Given the description of an element on the screen output the (x, y) to click on. 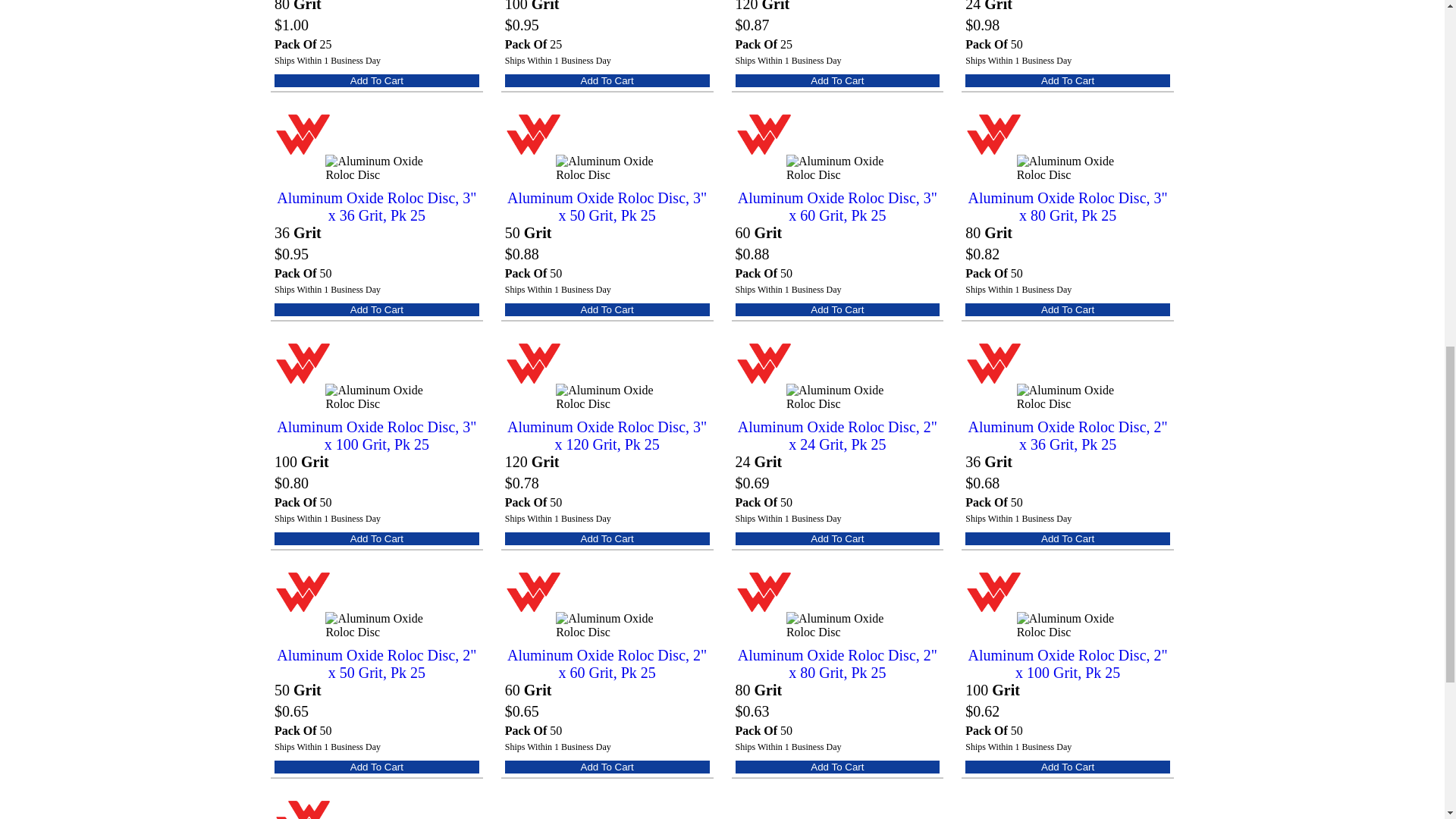
Aluminum Oxide Roloc Disc, 2" x 60 Grit, Pk 25 (607, 664)
Add To Cart (607, 80)
Aluminum Oxide Roloc Disc, 2" x 50 Grit, Pk 25 (377, 664)
Aluminum Oxide Roloc Disc, 3" x 50 Grit, Pk 25 (607, 206)
Add To Cart (1067, 80)
Aluminum Oxide Roloc Disc, 3" x 80 Grit, Pk 25 (1067, 206)
Add To Cart (377, 309)
Aluminum Oxide Roloc Disc, 3" x 36 Grit, Pk 25 (377, 206)
Aluminum Oxide Roloc Disc, 3" x 120 Grit, Pk 25 (607, 435)
Aluminum Oxide Roloc Disc, 3" x 80 Grit, Pk 25 (1067, 206)
